Given the description of an element on the screen output the (x, y) to click on. 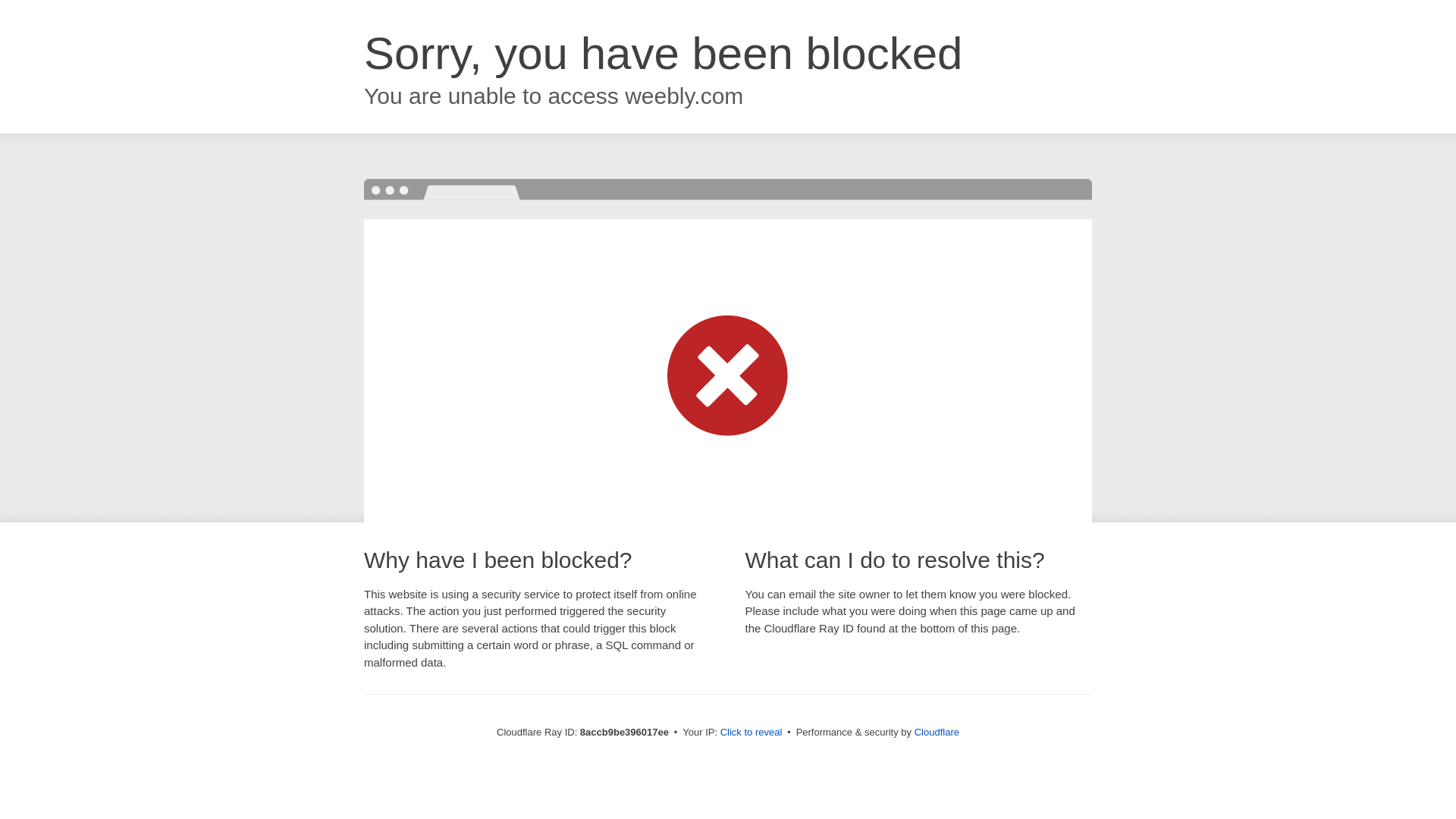
Click to reveal (751, 732)
Cloudflare (936, 731)
